Given the description of an element on the screen output the (x, y) to click on. 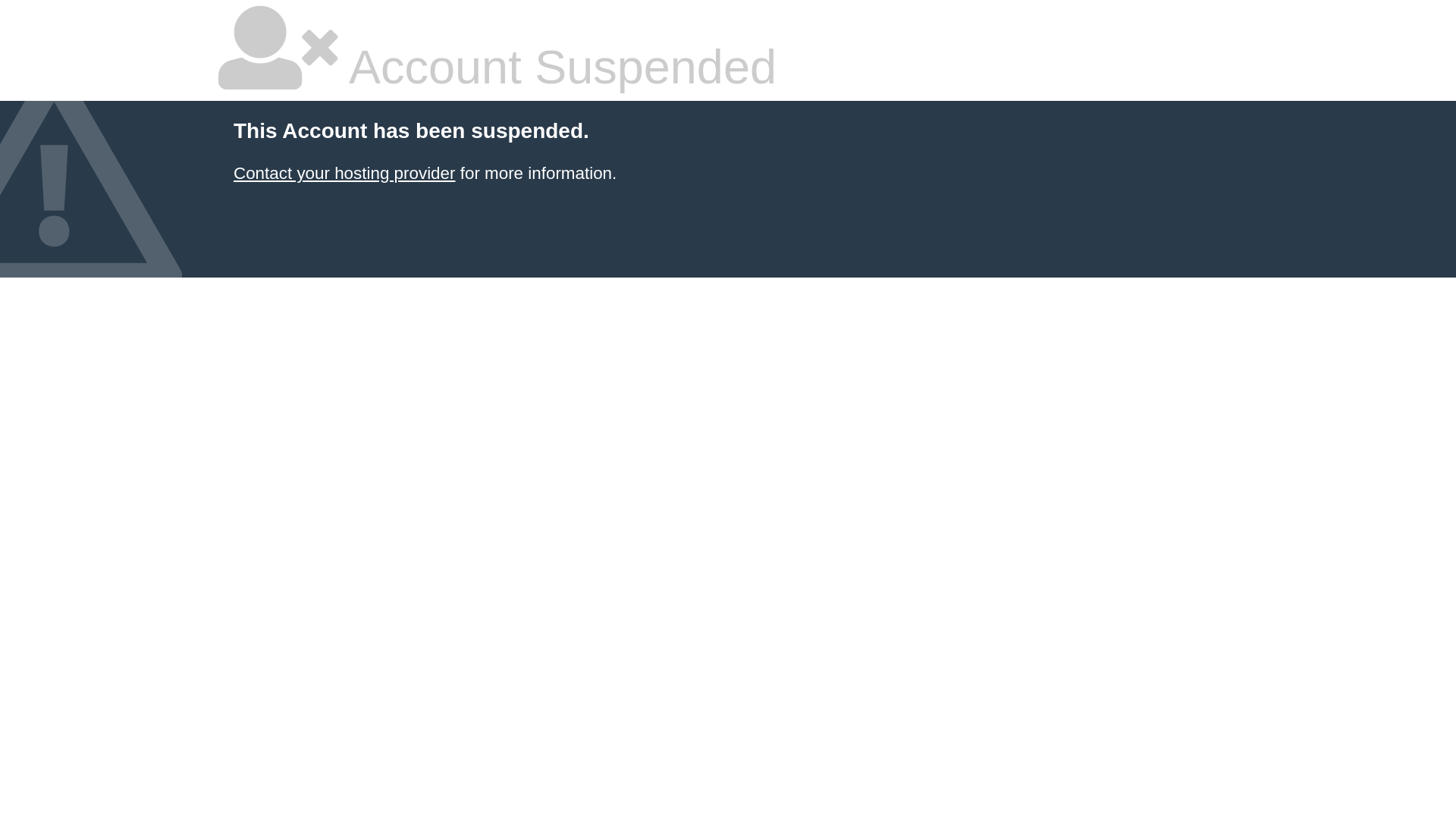
Contact your hosting provider Element type: text (344, 172)
